Given the description of an element on the screen output the (x, y) to click on. 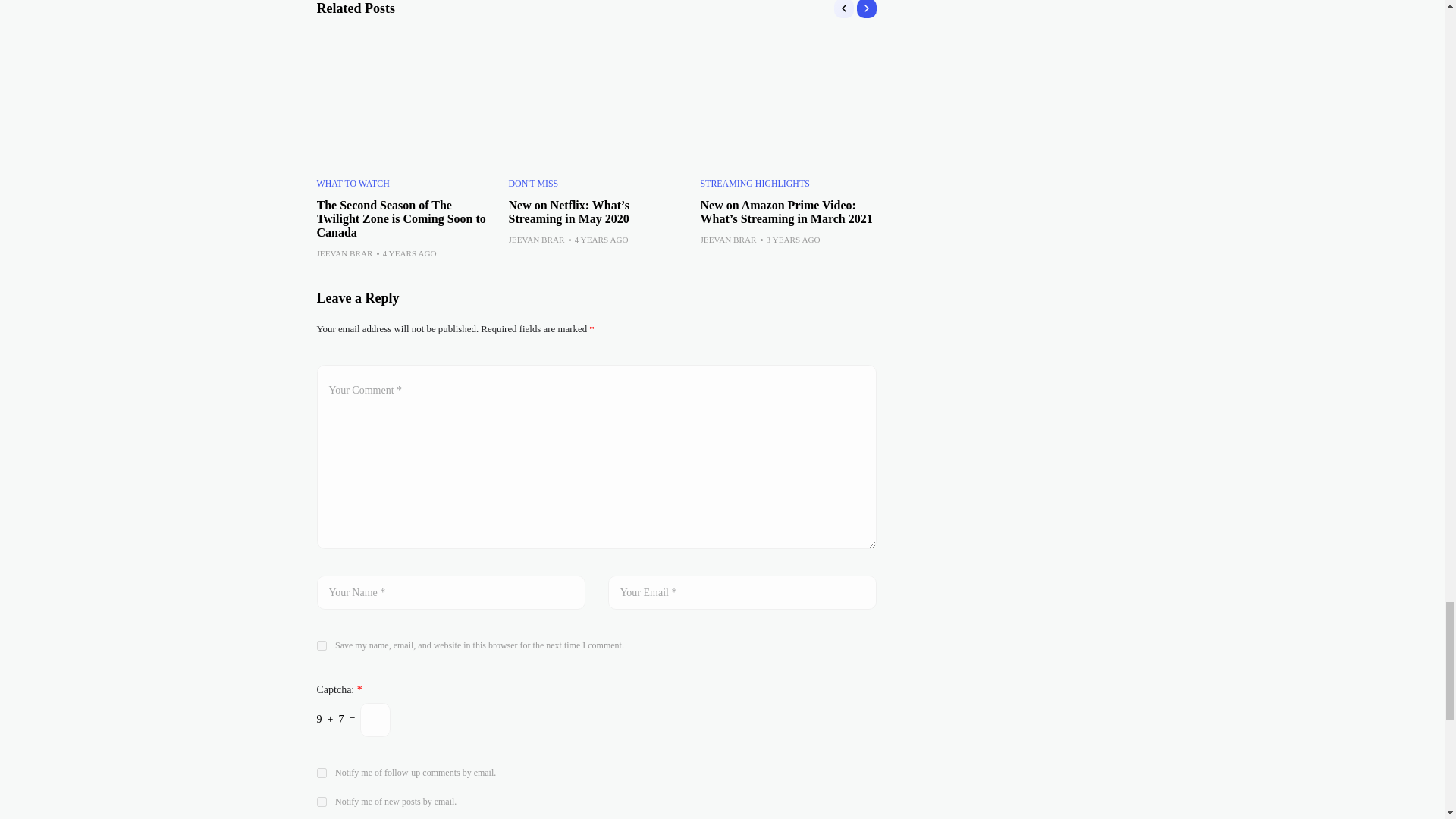
subscribe (321, 773)
subscribe (321, 801)
yes (321, 645)
